Given the description of an element on the screen output the (x, y) to click on. 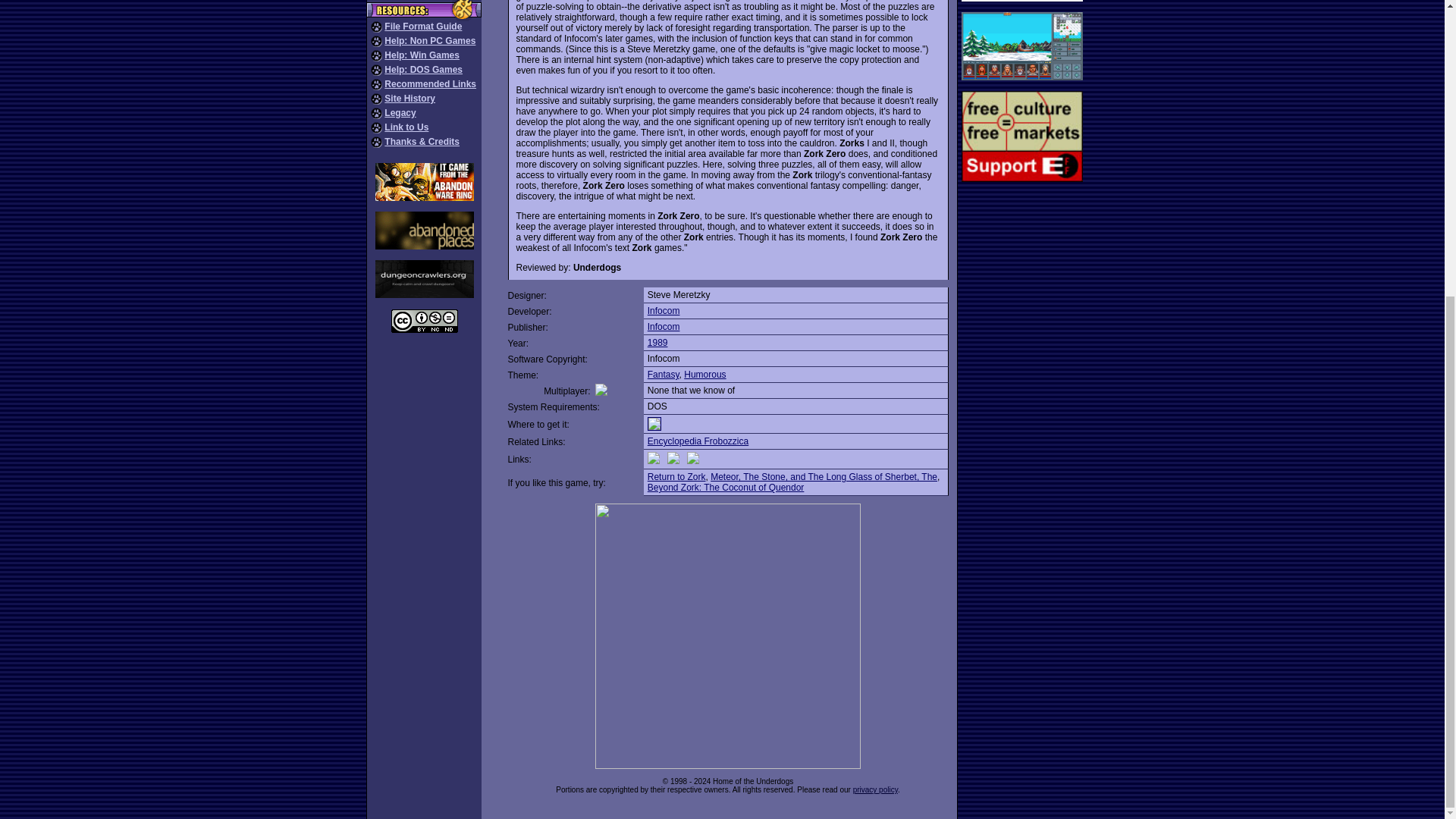
Help: DOS Games (423, 69)
Help: Win Games (422, 54)
Link to Us (406, 127)
Legacy (399, 112)
Recommended Links (430, 83)
Site History (409, 98)
Help: Non PC Games (430, 40)
File Format Guide (422, 26)
